Given the description of an element on the screen output the (x, y) to click on. 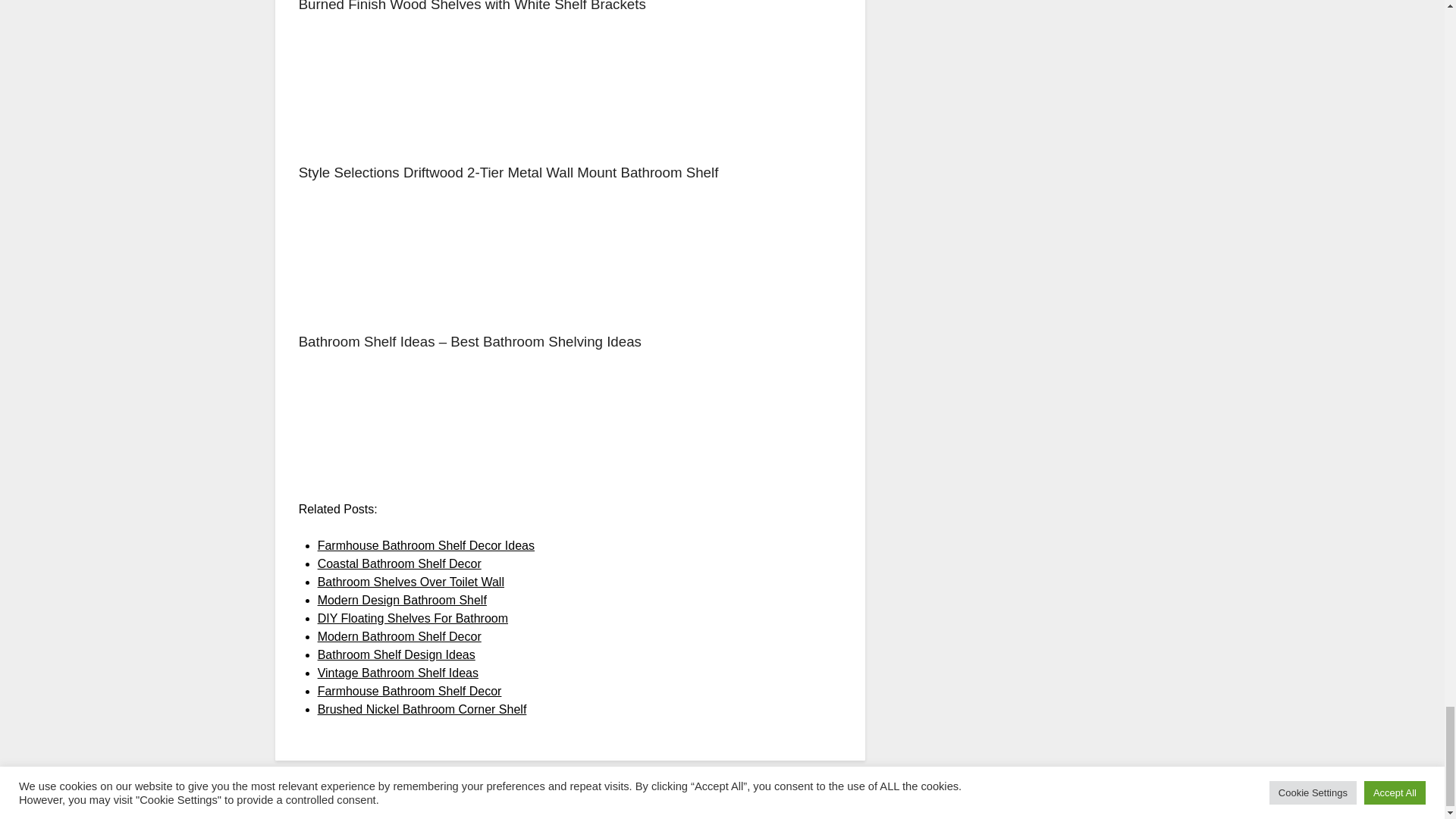
Superbthemes.com (757, 805)
Modern Design Bathroom Shelf (401, 599)
Bertena (890, 805)
Bathroom Shelf Design Ideas (396, 654)
Coastal Bathroom Shelf Decor (399, 563)
Brushed Nickel Bathroom Corner Shelf (422, 708)
Modern Bathroom Shelf Decor (399, 635)
Farmhouse Bathroom Shelf Decor Ideas (425, 545)
Bathroom Shelves Over Toilet Wall (410, 581)
DIY Floating Shelves For Bathroom (412, 617)
Vintage Bathroom Shelf Ideas (398, 672)
Farmhouse Bathroom Shelf Decor (409, 690)
